Given the description of an element on the screen output the (x, y) to click on. 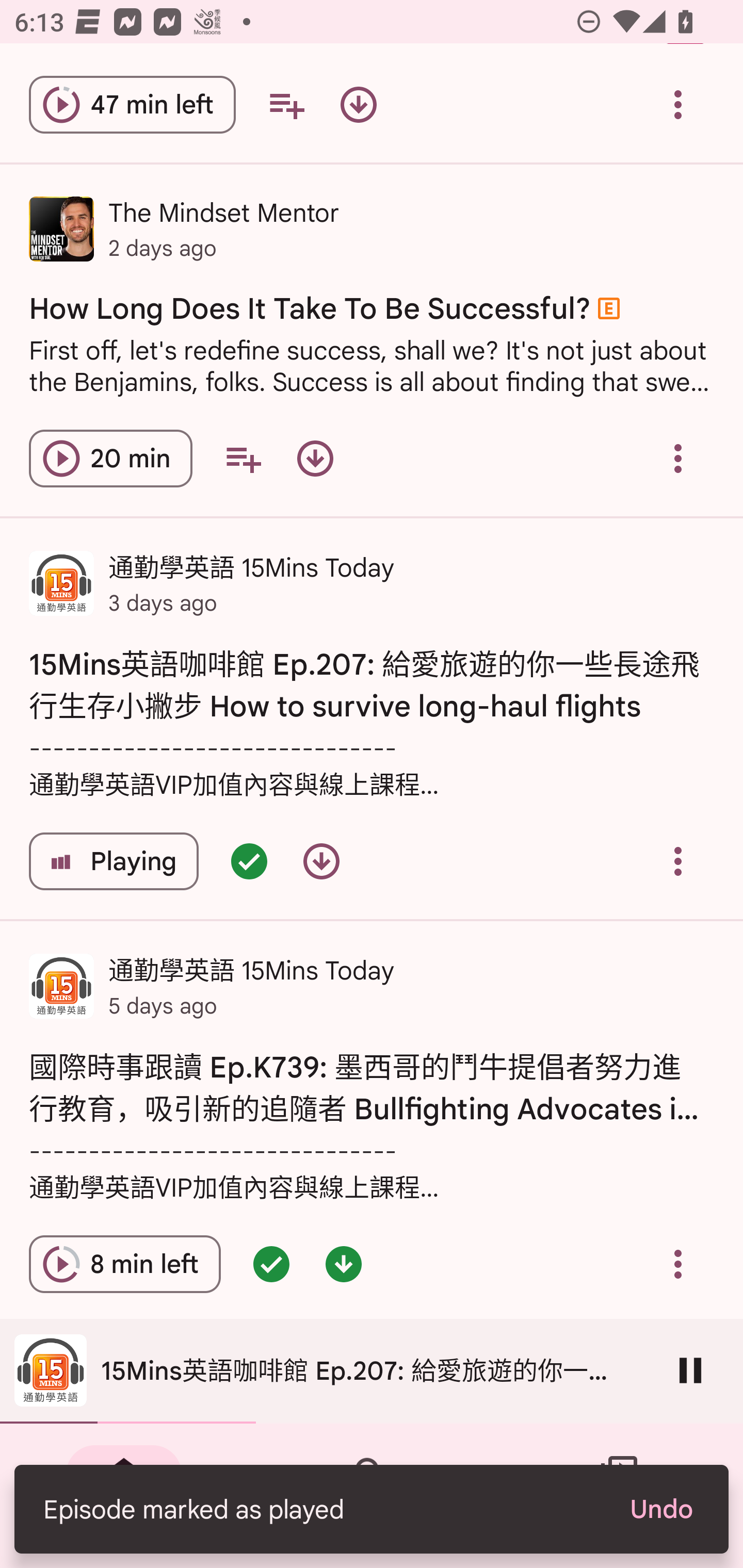
Play episode Meet My Wife 47 min left (131, 104)
Add to your queue (286, 104)
Download episode (358, 104)
Overflow menu (677, 104)
Add to your queue (242, 458)
Download episode (315, 458)
Overflow menu (677, 458)
Episode queued - double tap for options (249, 861)
Download episode (321, 861)
Overflow menu (677, 861)
Episode queued - double tap for options (271, 1264)
Episode downloaded - double tap for options (343, 1264)
Overflow menu (677, 1264)
通勤學英語 15Mins Today 通勤學英語 15Mins Today Mar 1 (371, 1373)
Pause (690, 1370)
Undo (660, 1509)
